Given the description of an element on the screen output the (x, y) to click on. 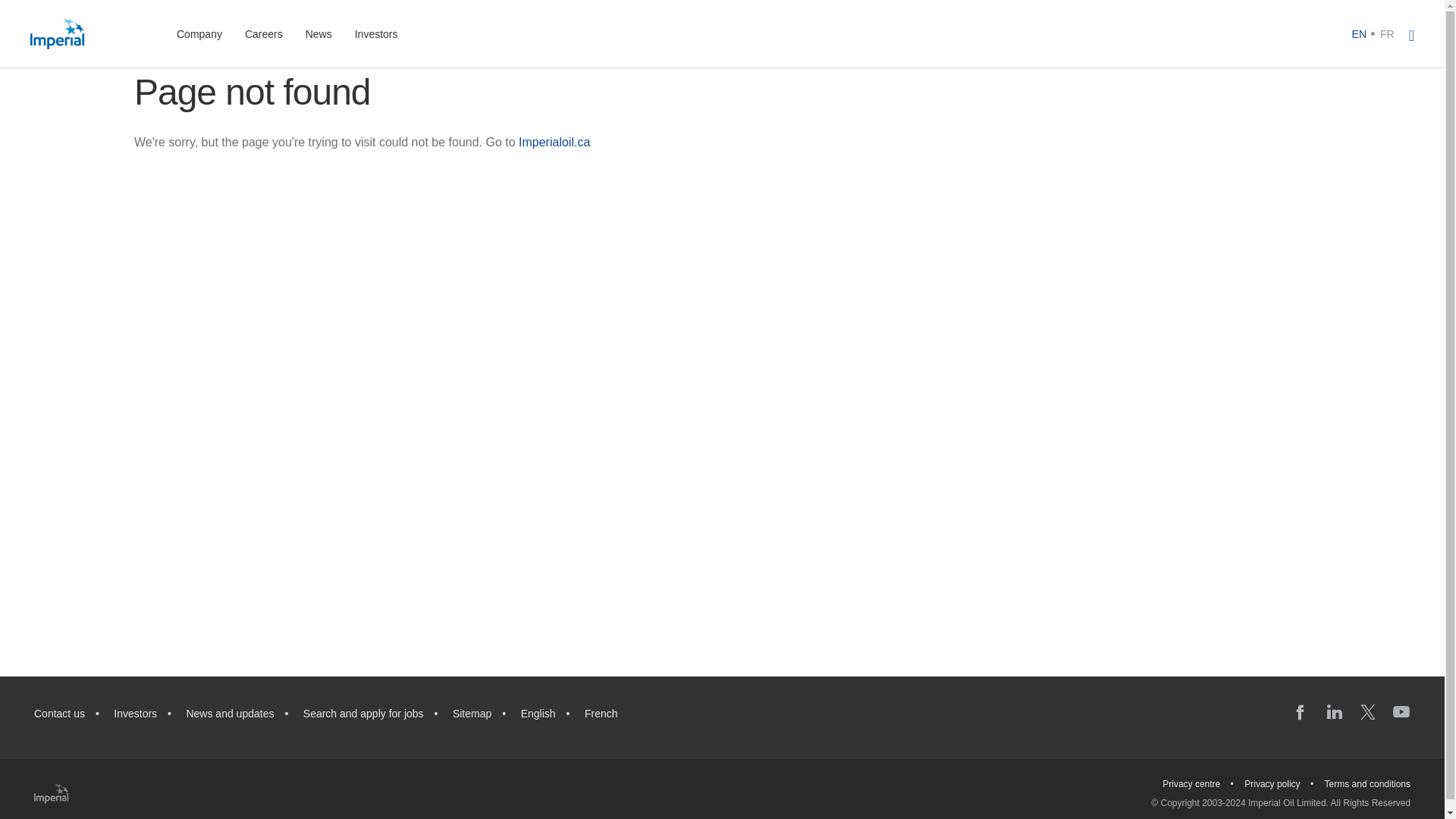
Imperialoil.ca (553, 141)
Contact us (58, 713)
EN (1359, 33)
FR (1387, 33)
Investors (135, 713)
